Given the description of an element on the screen output the (x, y) to click on. 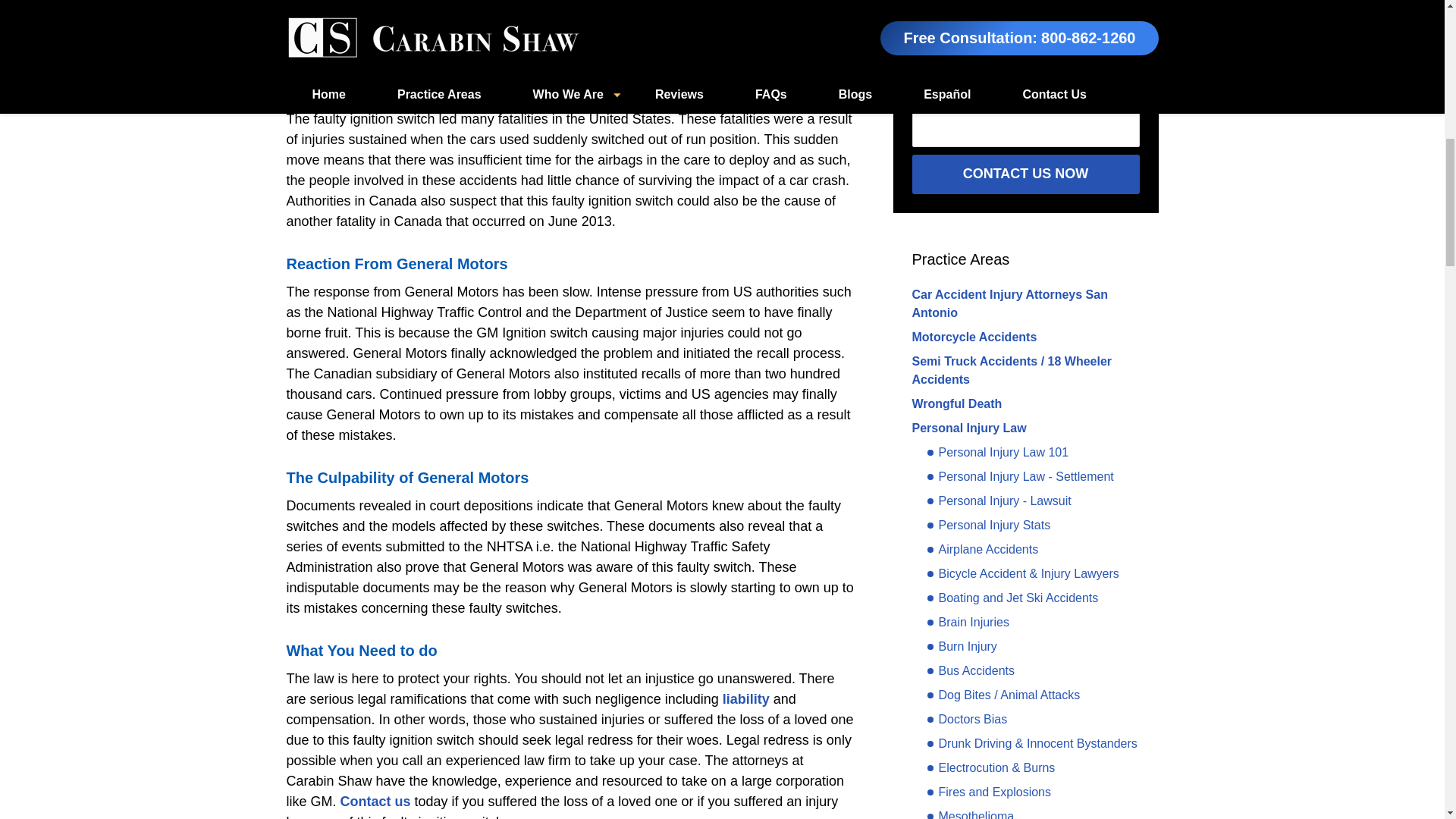
Personal Injury Law (968, 427)
Personal Injury - Lawsuit (998, 501)
Personal Injury Law 101 (997, 452)
CONTACT US NOW (1024, 174)
Personal Injury Law - Settlement (1019, 476)
Practice Areas (960, 258)
Contact us (375, 801)
Brain Injuries (967, 622)
Personal Injury Stats (987, 525)
Boating and Jet Ski Accidents (1011, 597)
Airplane Accidents (982, 549)
liability (746, 698)
Wrongful Death (956, 403)
Burn Injury (960, 647)
Car Accident Injury Attorneys San Antonio (1008, 303)
